Given the description of an element on the screen output the (x, y) to click on. 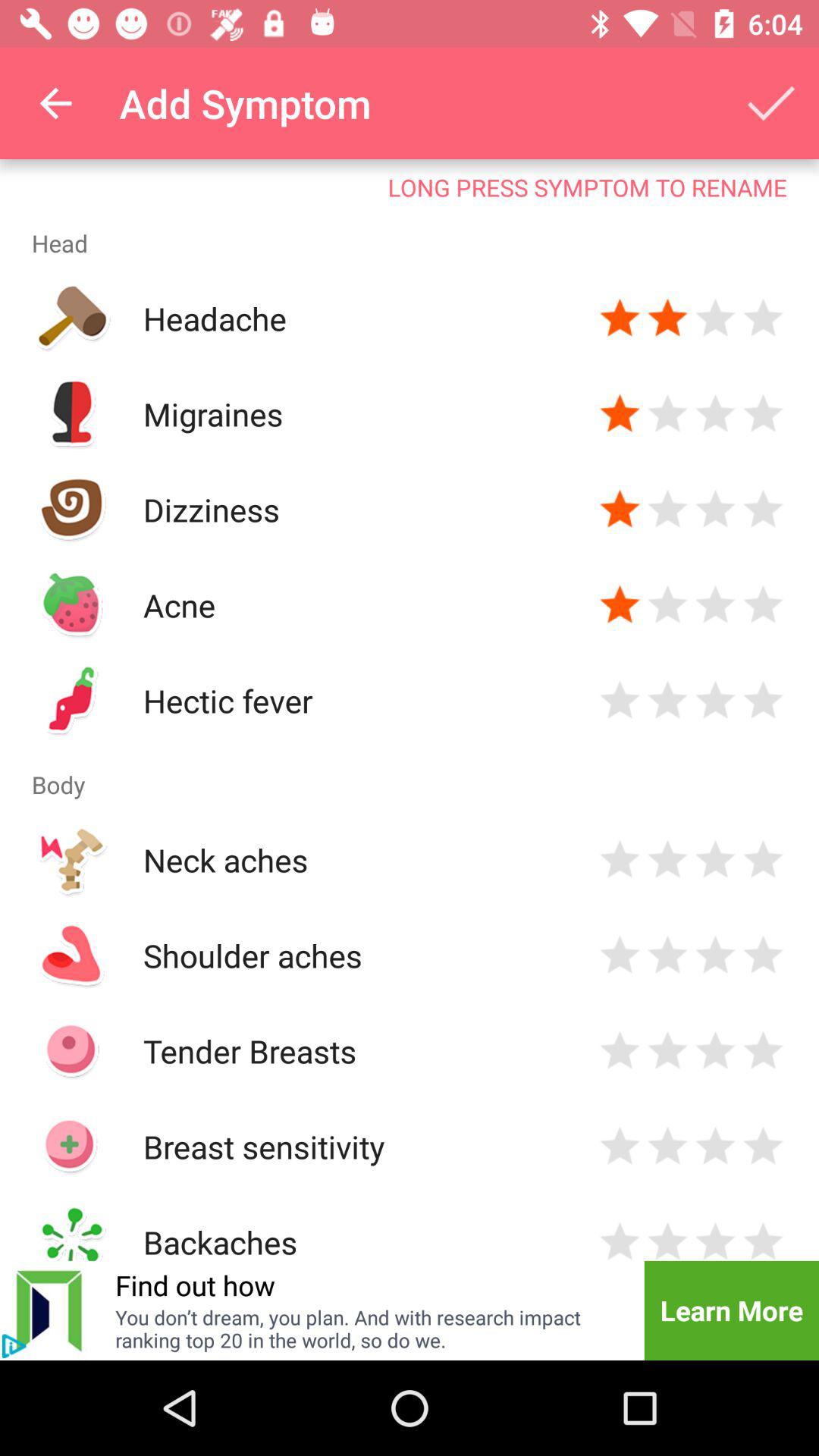
rate acne 4 stars (763, 605)
